Given the description of an element on the screen output the (x, y) to click on. 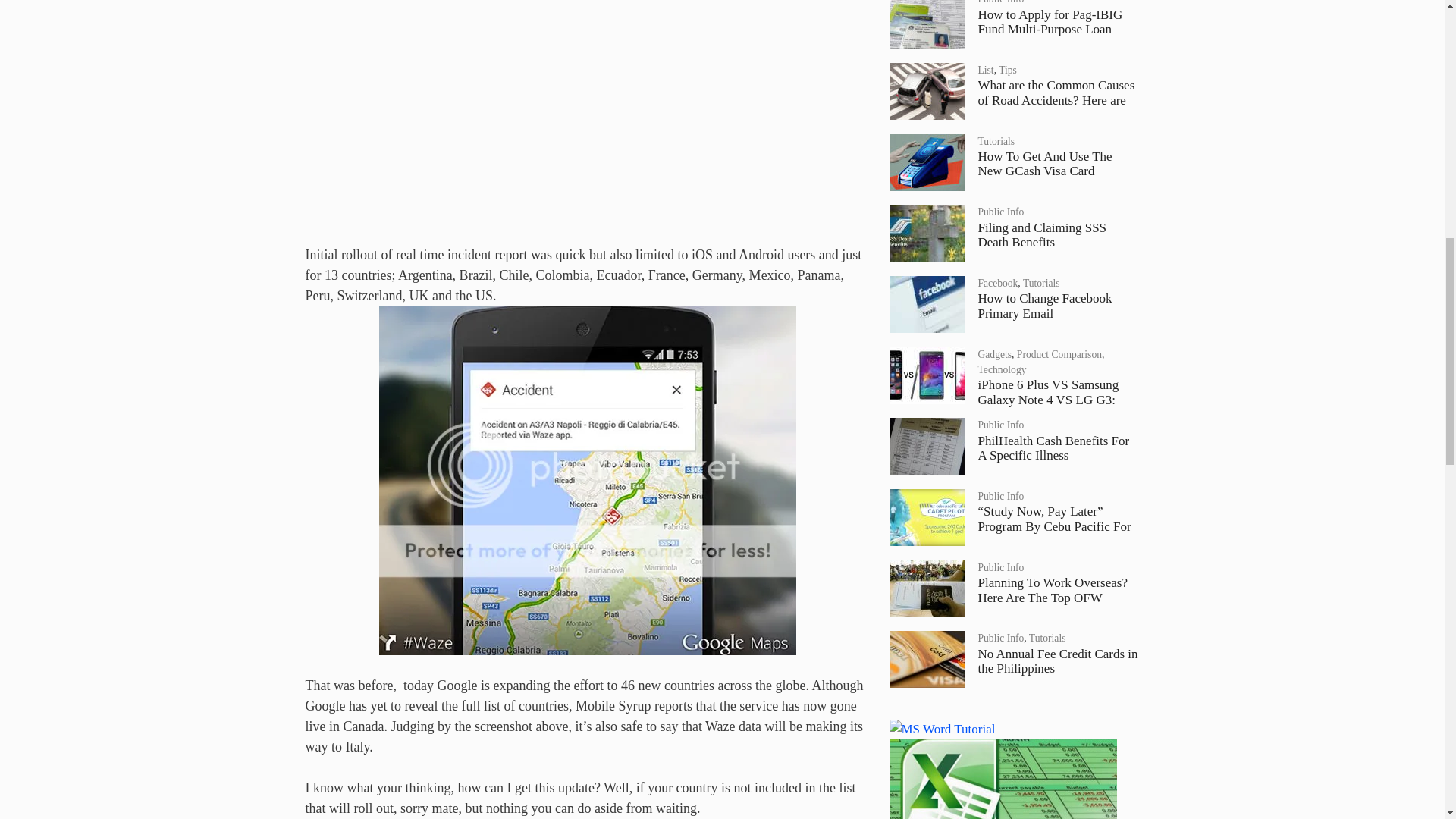
Advertisement (586, 110)
